Given the description of an element on the screen output the (x, y) to click on. 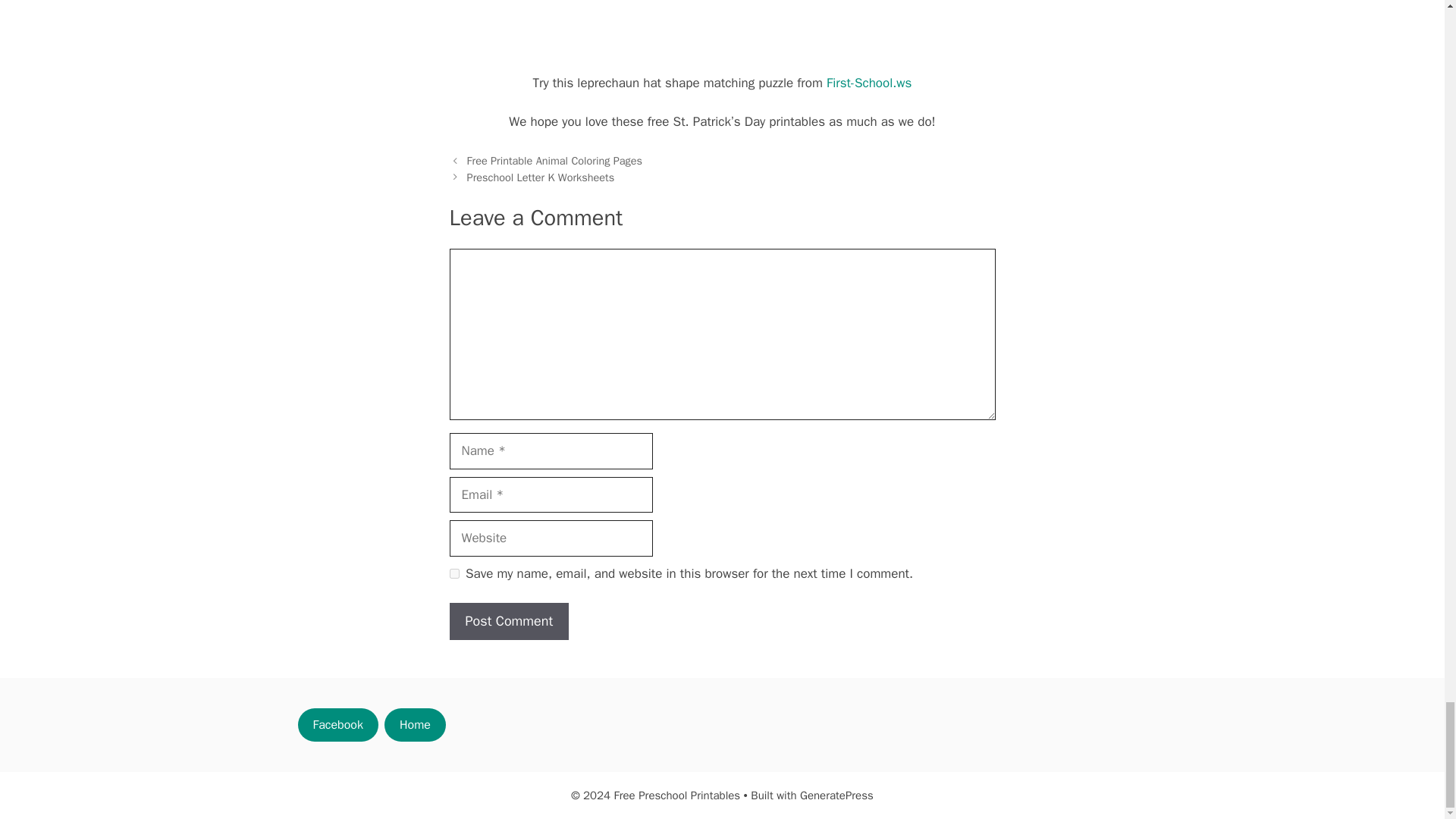
Previous (555, 160)
Preschool Letter K Worksheets (540, 177)
Next (540, 177)
yes (453, 573)
Facebook (337, 725)
First-School.ws (869, 82)
Post Comment (508, 620)
Free Printable Animal Coloring Pages (555, 160)
Post Comment (508, 620)
Home (414, 725)
GeneratePress (836, 795)
